Given the description of an element on the screen output the (x, y) to click on. 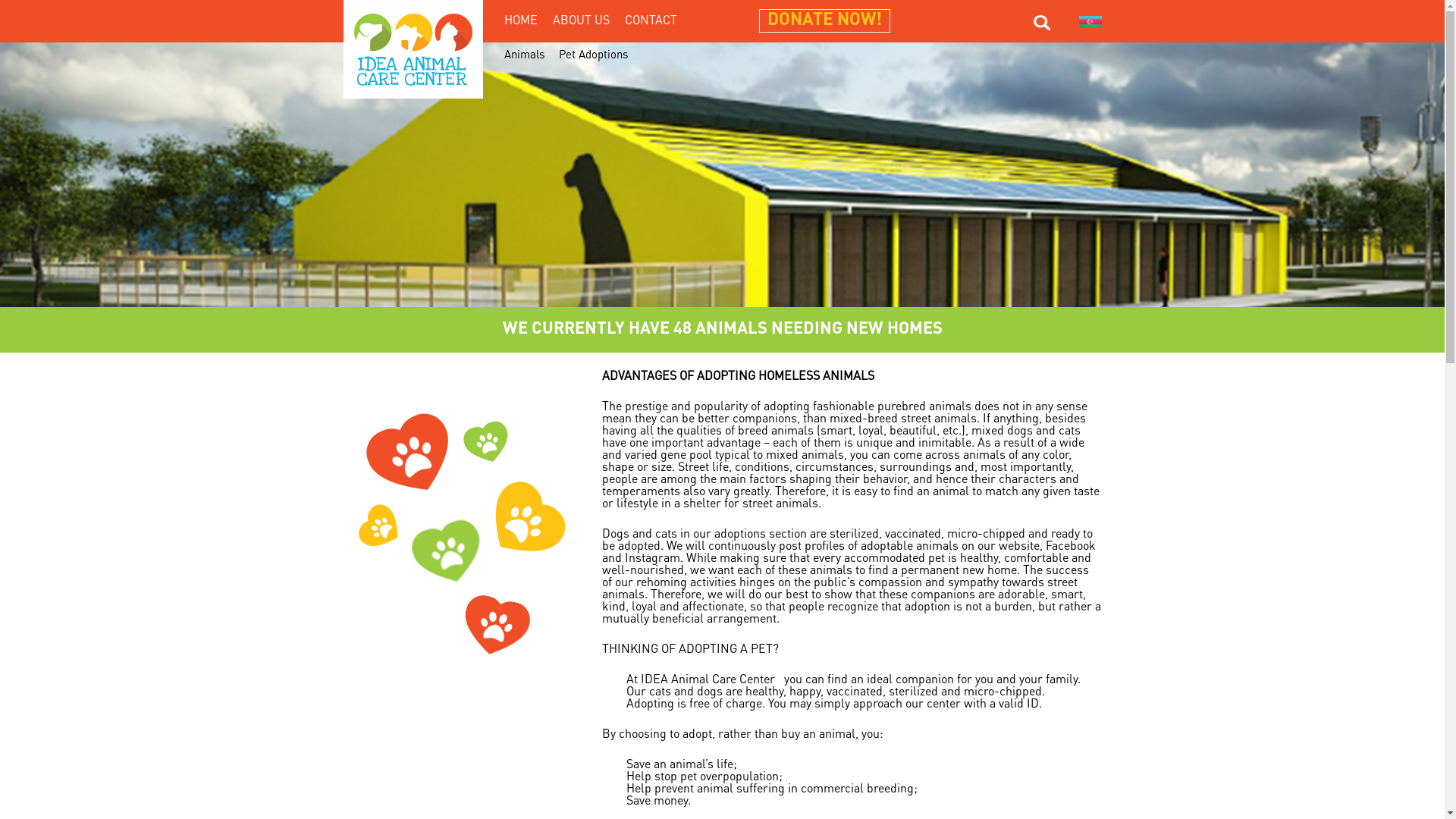
Pet Adoptions Element type: text (592, 55)
Search Element type: text (1045, 22)
Animals Element type: text (523, 55)
DONATE NOW! Element type: text (824, 19)
ABOUT US Element type: text (580, 21)
CONTACT Element type: text (650, 21)
HOME Element type: text (519, 21)
WE CURRENTLY HAVE 48 ANIMALS NEEDING NEW HOMES Element type: text (721, 329)
